Given the description of an element on the screen output the (x, y) to click on. 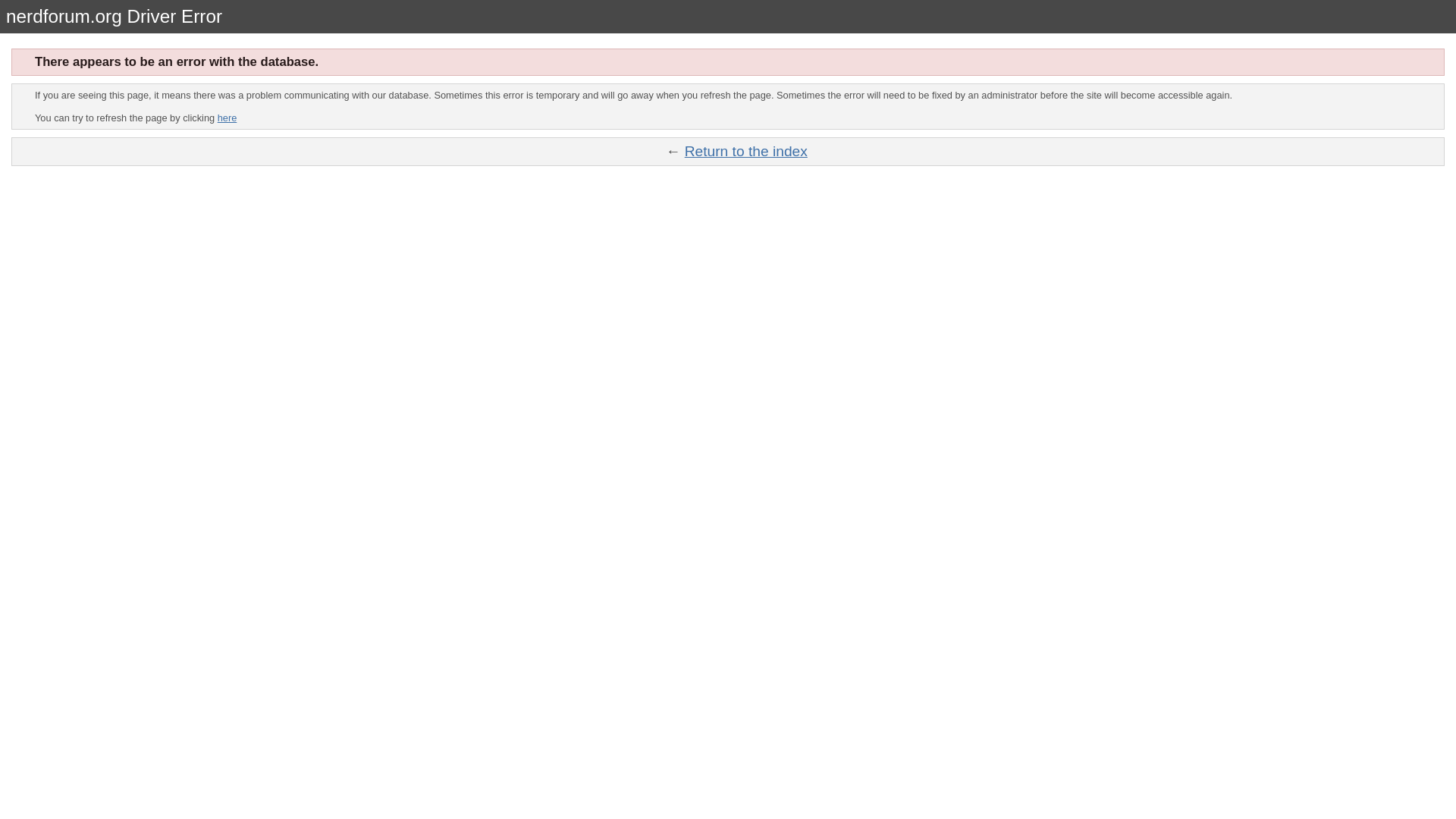
Go to home page (746, 150)
Return to the index (746, 150)
here (226, 117)
